Given the description of an element on the screen output the (x, y) to click on. 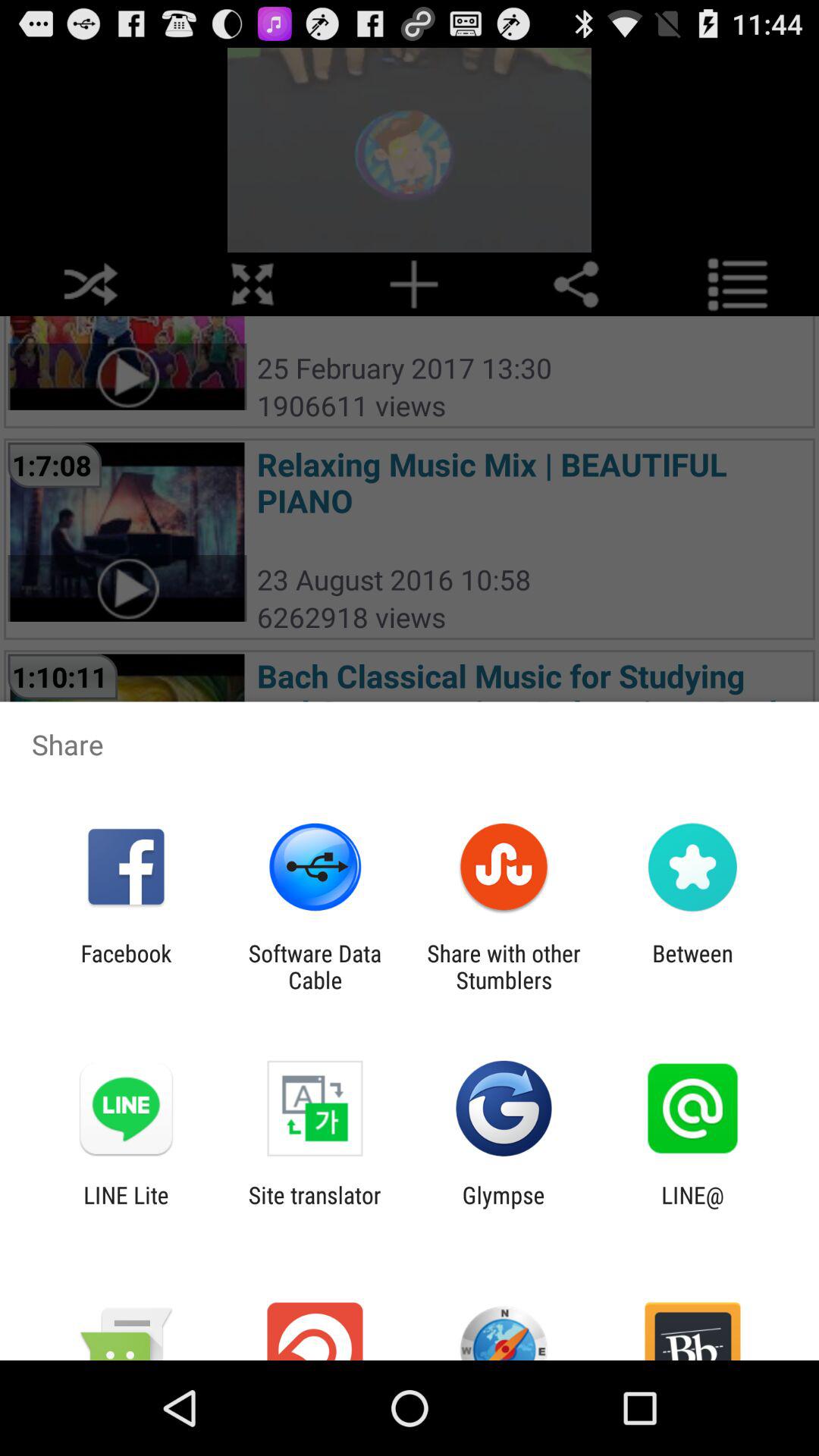
open item to the left of glympse item (314, 1208)
